Given the description of an element on the screen output the (x, y) to click on. 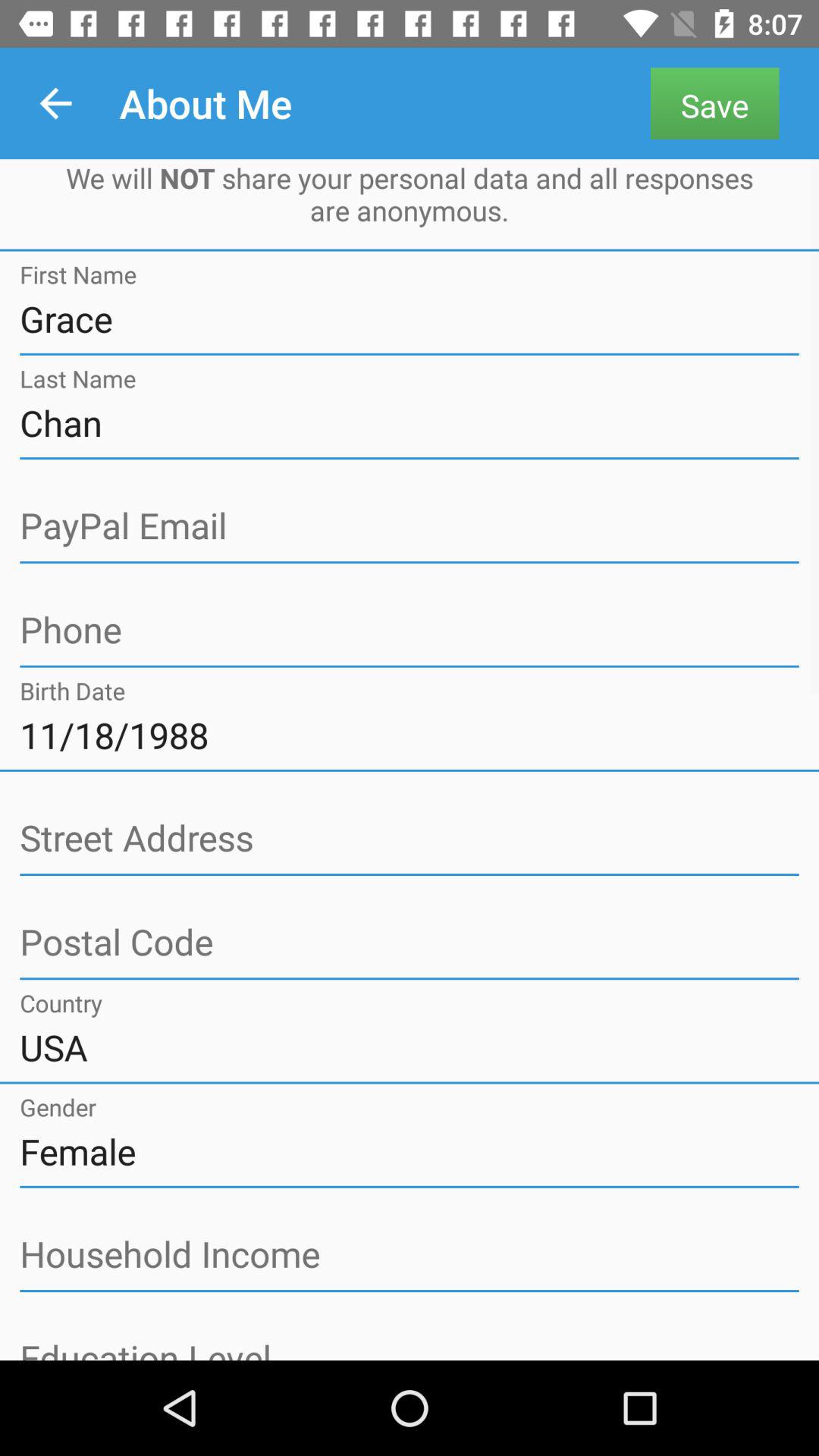
indicate email (409, 526)
